Given the description of an element on the screen output the (x, y) to click on. 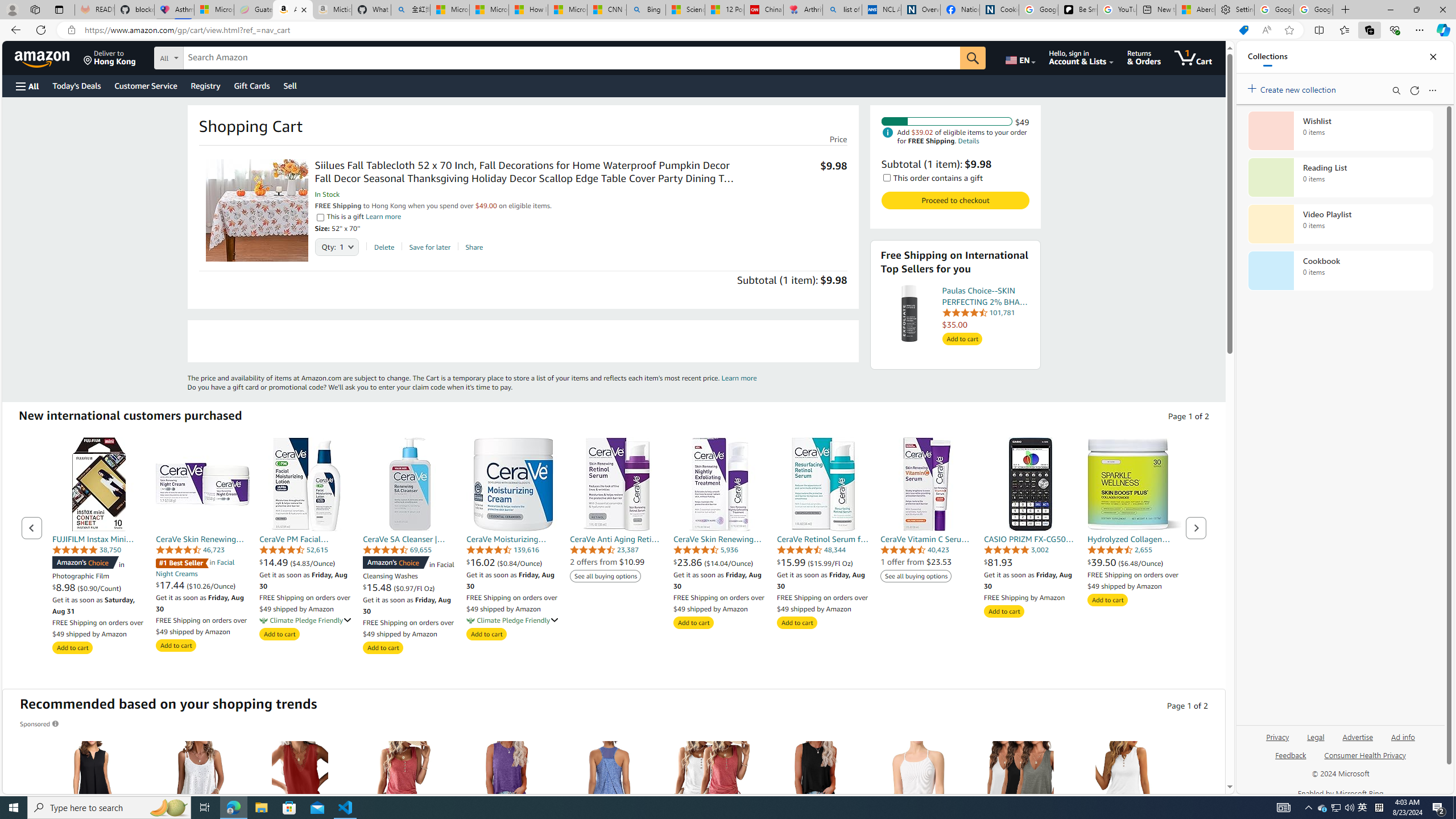
This order contains a gift (886, 177)
How I Got Rid of Microsoft Edge's Unnecessary Features (528, 9)
Ad info (1402, 736)
1 offer from $23.53 (916, 561)
Open Menu (26, 86)
